Given the description of an element on the screen output the (x, y) to click on. 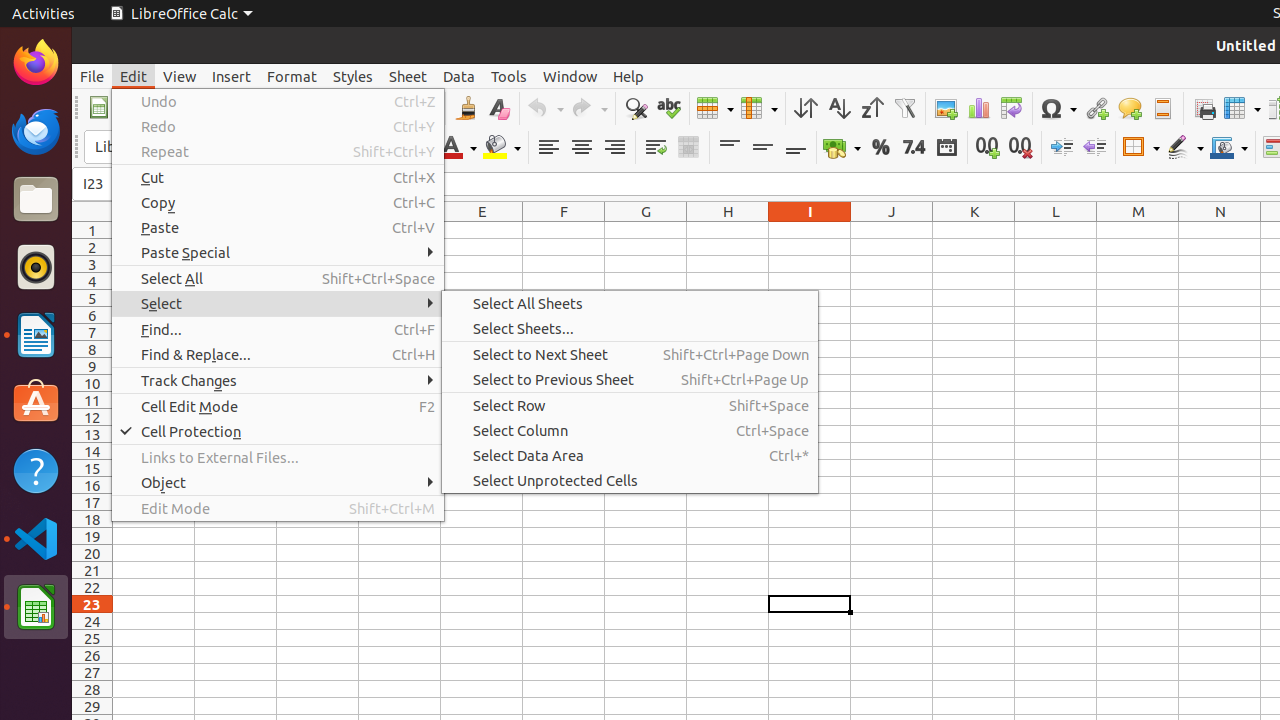
Date Element type: push-button (946, 147)
L1 Element type: table-cell (1056, 230)
Select to Next Sheet Element type: menu-item (630, 354)
Percent Element type: push-button (880, 147)
Redo Element type: push-button (589, 108)
